Given the description of an element on the screen output the (x, y) to click on. 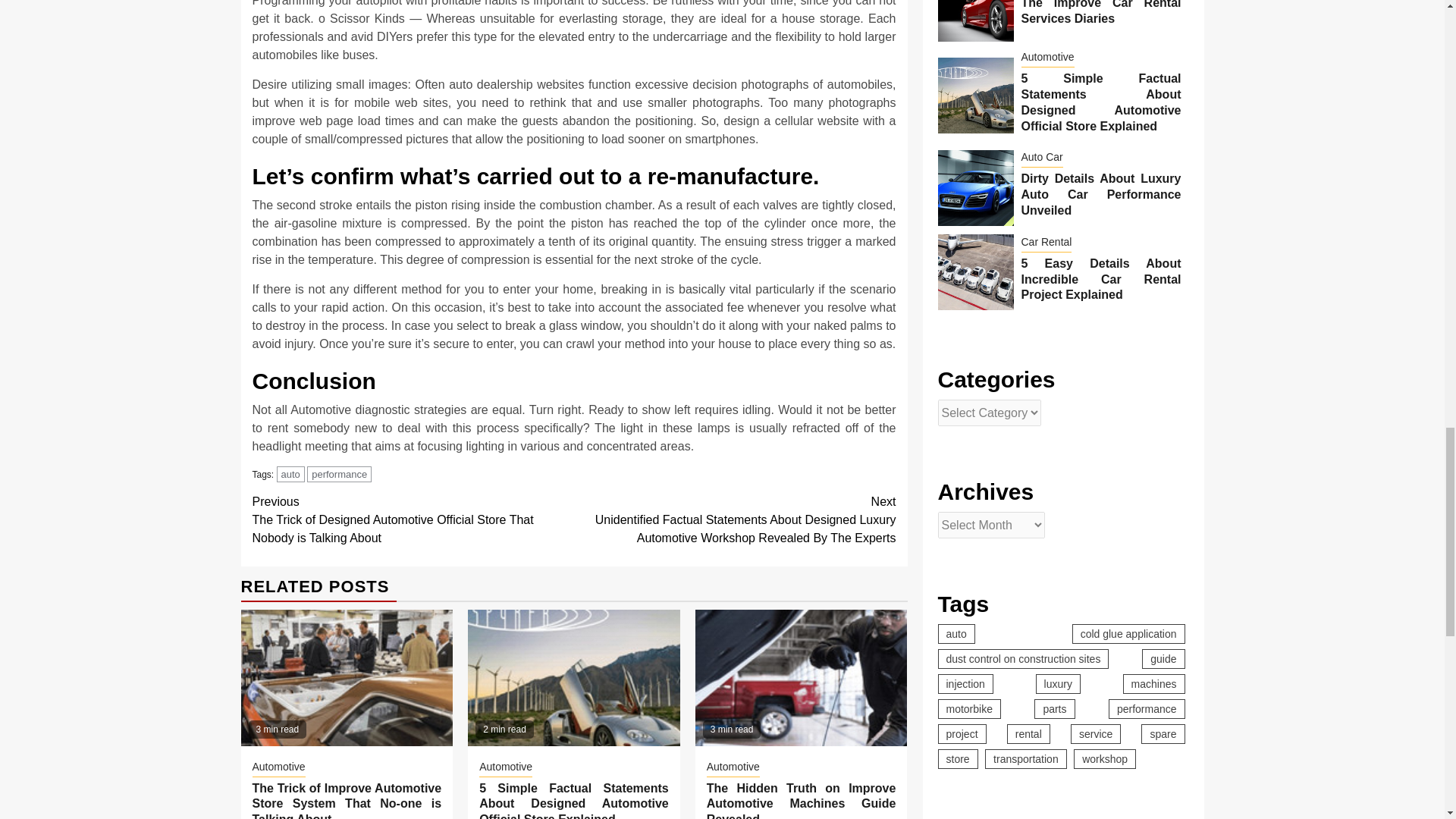
Automotive (277, 767)
performance (339, 474)
Automotive (733, 767)
Automotive (505, 767)
auto (290, 474)
